Given the description of an element on the screen output the (x, y) to click on. 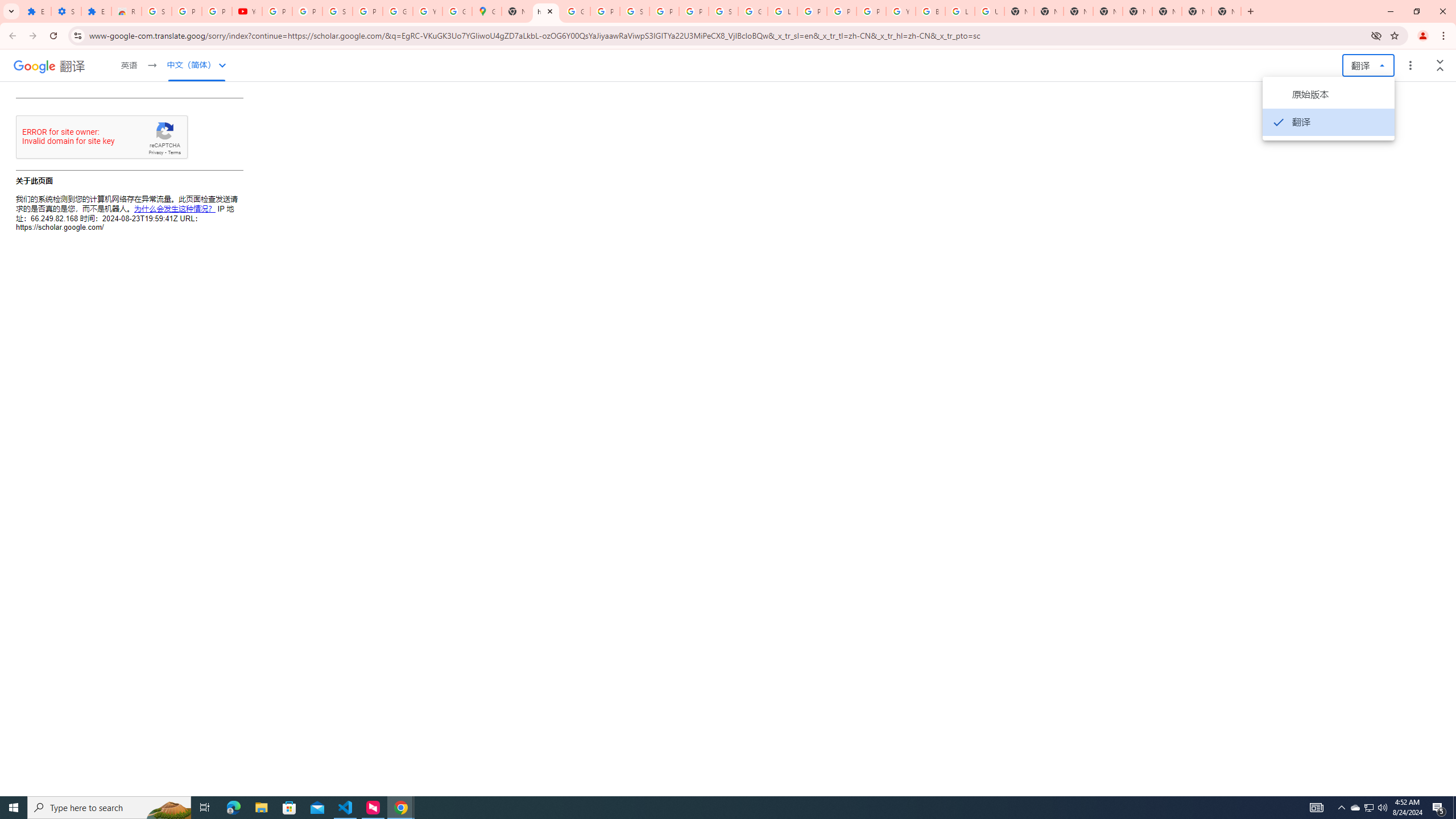
Sign in - Google Accounts (634, 11)
YouTube (900, 11)
Settings (65, 11)
Reviews: Helix Fruit Jump Arcade Game (126, 11)
https://scholar.google.com/ (545, 11)
Sign in - Google Accounts (723, 11)
Extensions (36, 11)
